Given the description of an element on the screen output the (x, y) to click on. 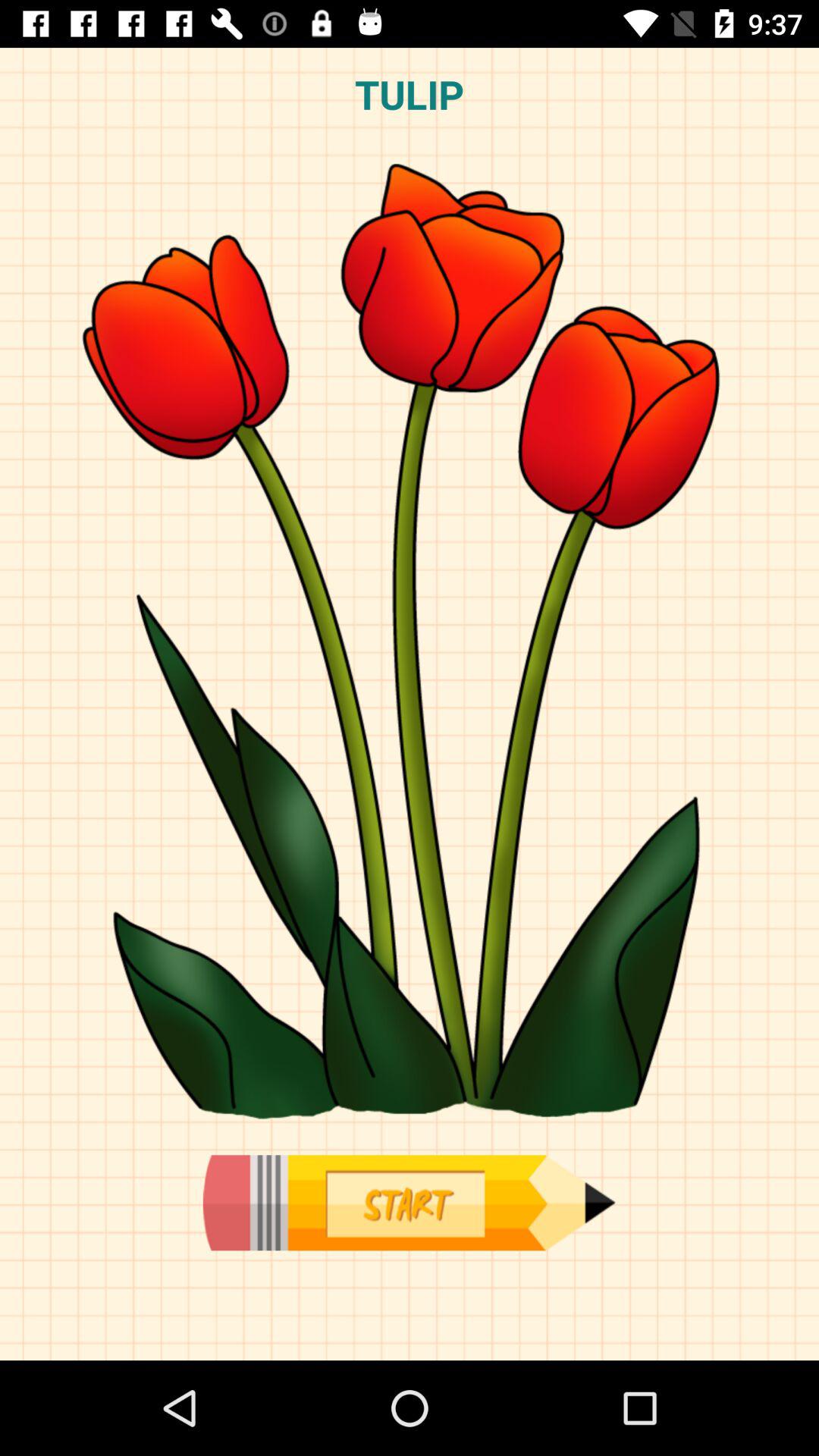
start drawing exercise (409, 1202)
